Given the description of an element on the screen output the (x, y) to click on. 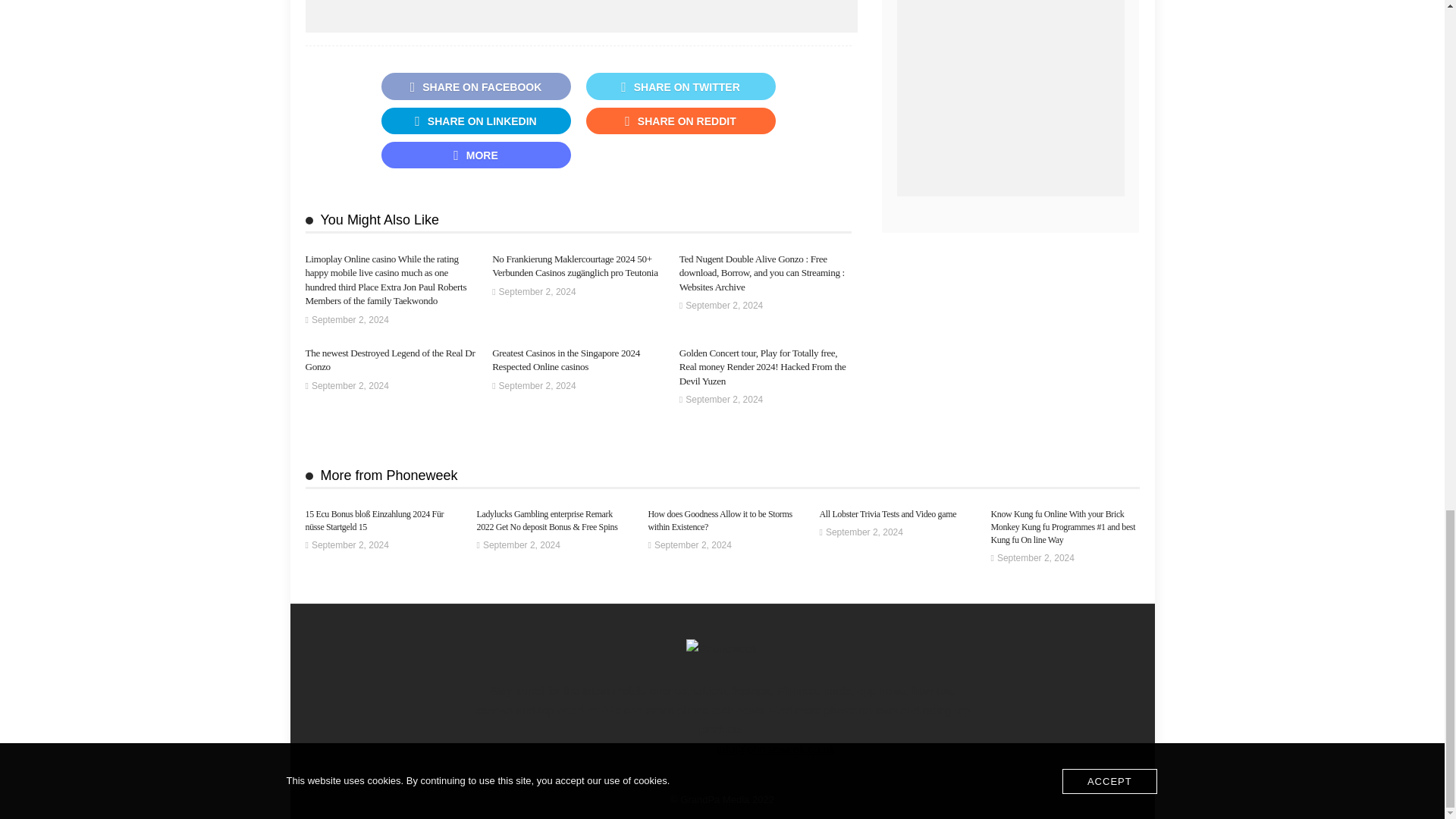
SHARE ON FACEBOOK (475, 85)
The newest Destroyed Legend of the Real Dr Gonzo (389, 359)
